Given the description of an element on the screen output the (x, y) to click on. 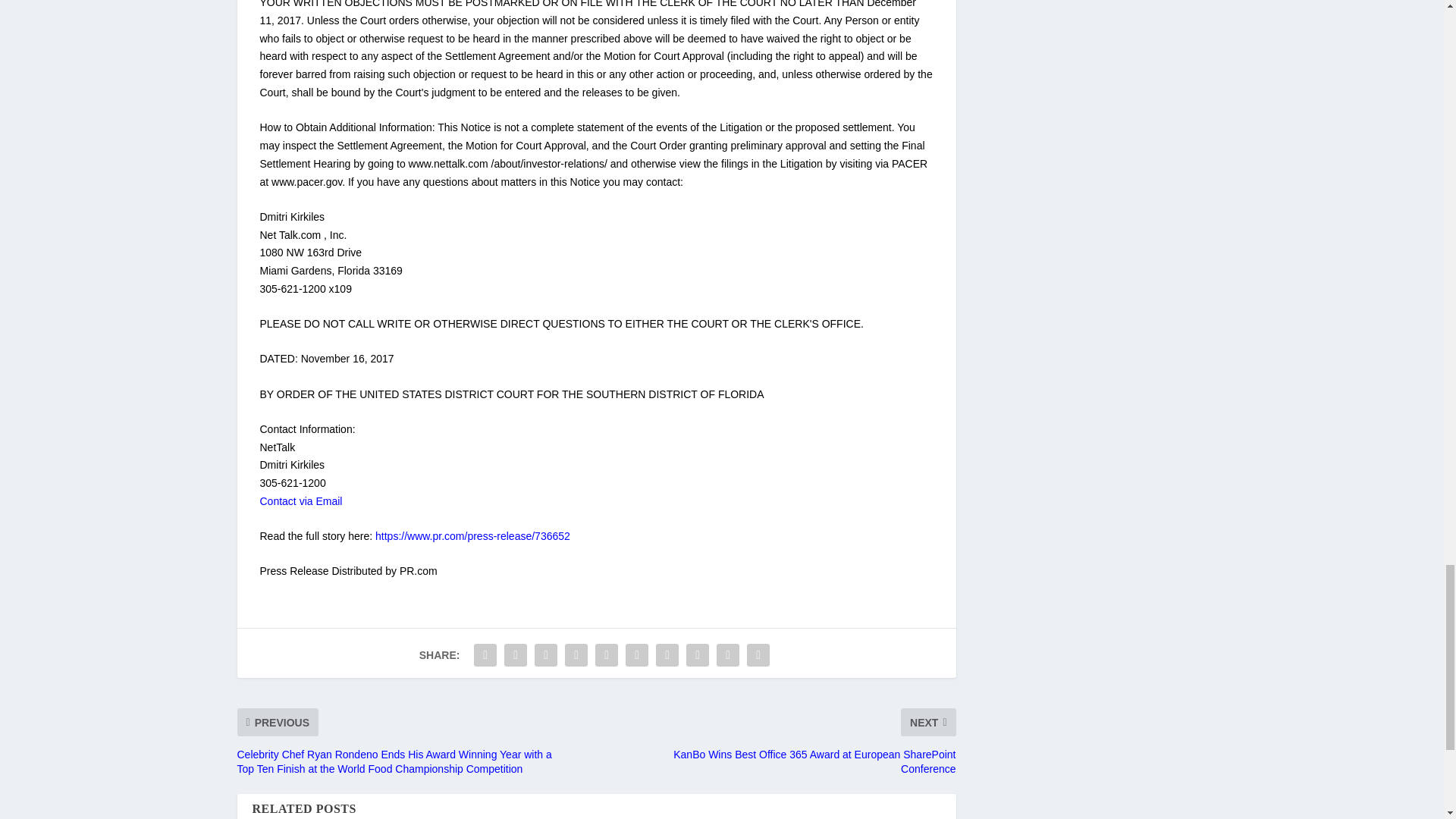
Contact via Email (300, 500)
